Given the description of an element on the screen output the (x, y) to click on. 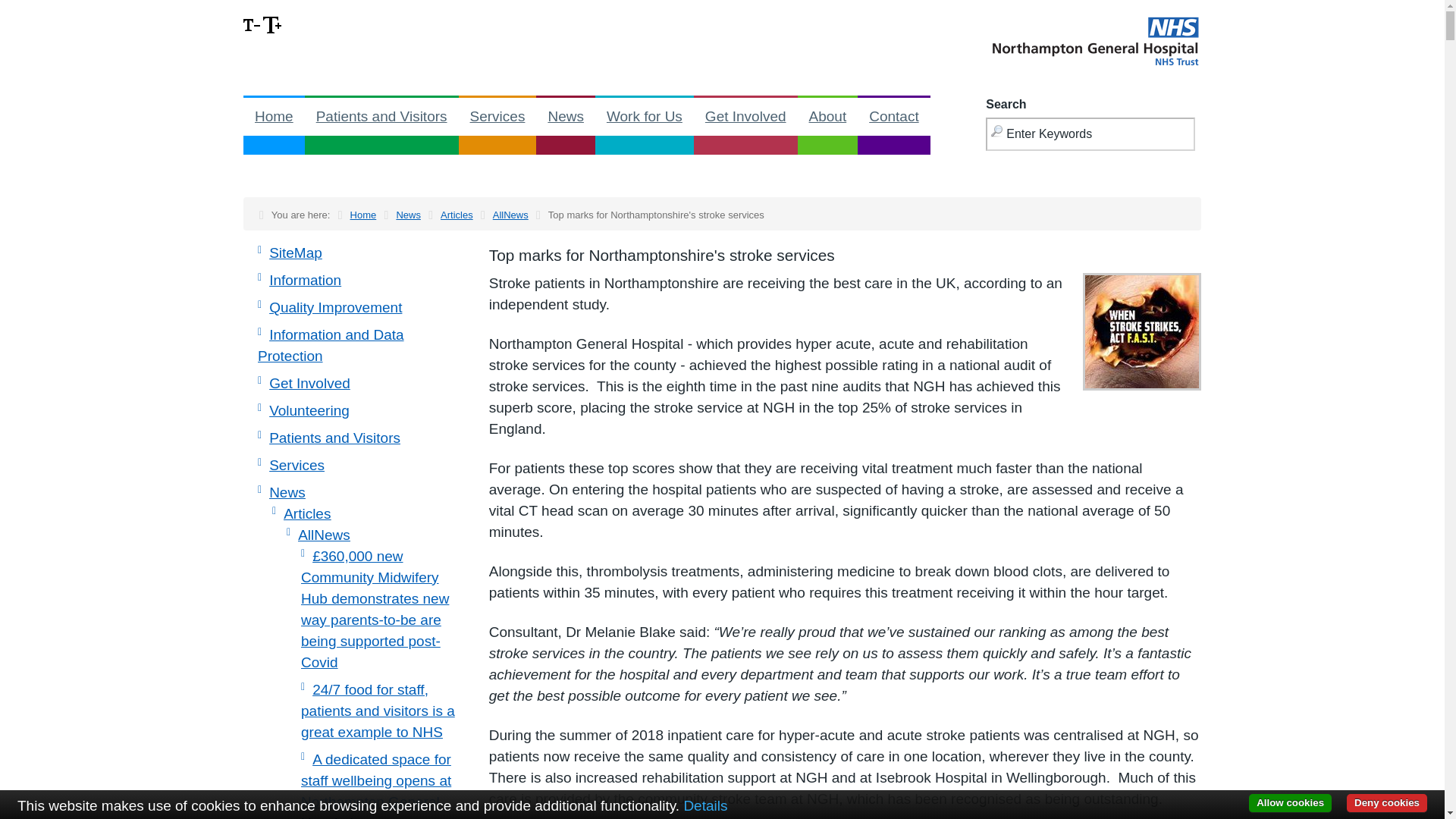
Articles (457, 214)
AllNews (510, 214)
Search (25, 11)
Home (363, 214)
Contact (893, 116)
News (408, 214)
About Us (828, 116)
Get Involved (745, 116)
Home (273, 116)
About (828, 116)
Our Services (497, 116)
Get Involved (745, 116)
Work for Us (644, 116)
News (565, 116)
Patients and Visitors (381, 116)
